Given the description of an element on the screen output the (x, y) to click on. 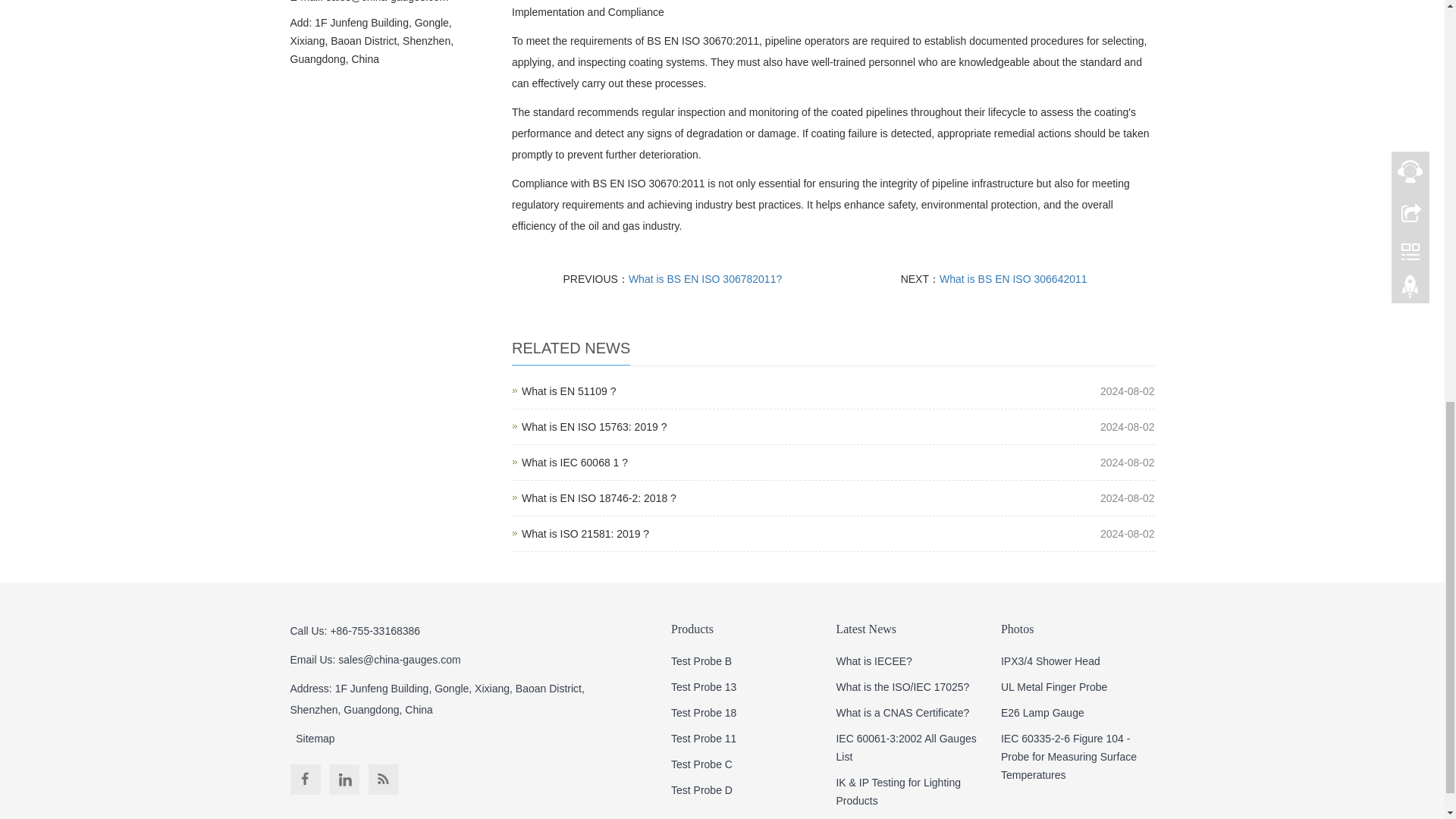
What is BS EN ISO 306642011 (1013, 278)
What is EN ISO 15763: 2019 ? (585, 533)
What is BS EN ISO 306782011? (593, 426)
What is EN 51109 ? (593, 426)
